Given the description of an element on the screen output the (x, y) to click on. 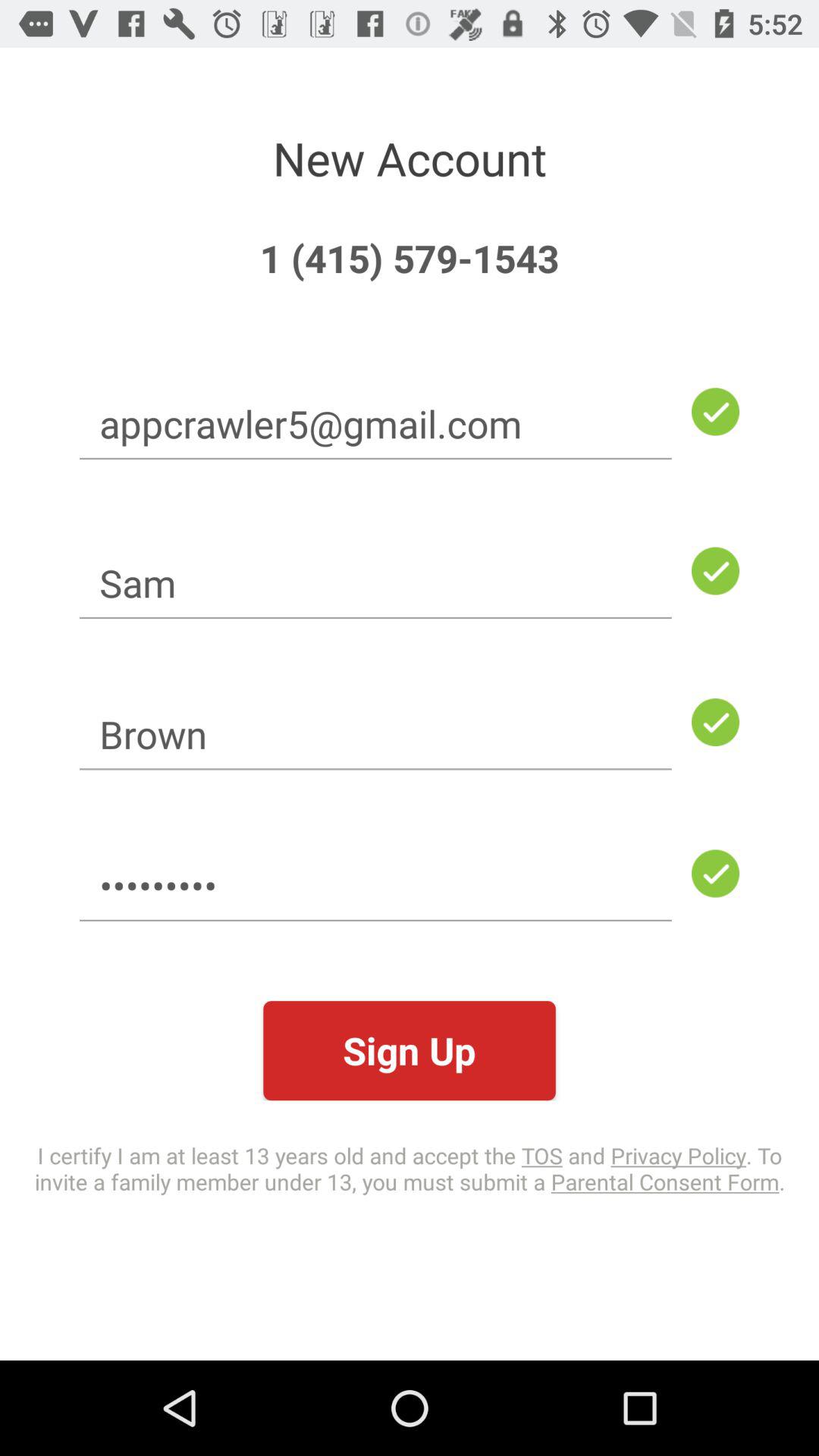
turn off the icon below the brown (375, 885)
